Given the description of an element on the screen output the (x, y) to click on. 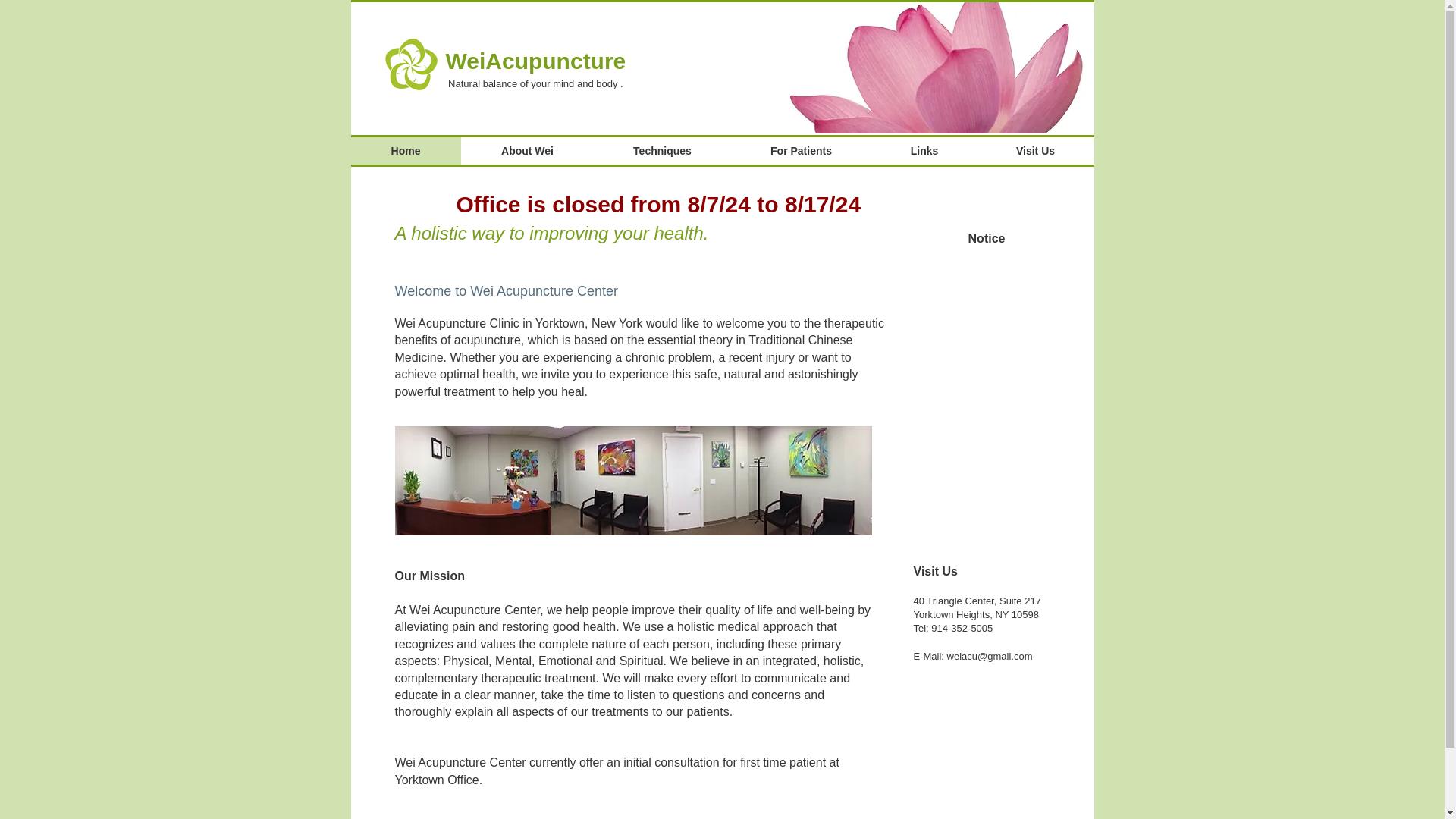
For Patients (801, 150)
About Wei (527, 150)
Visit Us (1034, 150)
Links (924, 150)
Techniques (662, 150)
Home (405, 150)
